Given the description of an element on the screen output the (x, y) to click on. 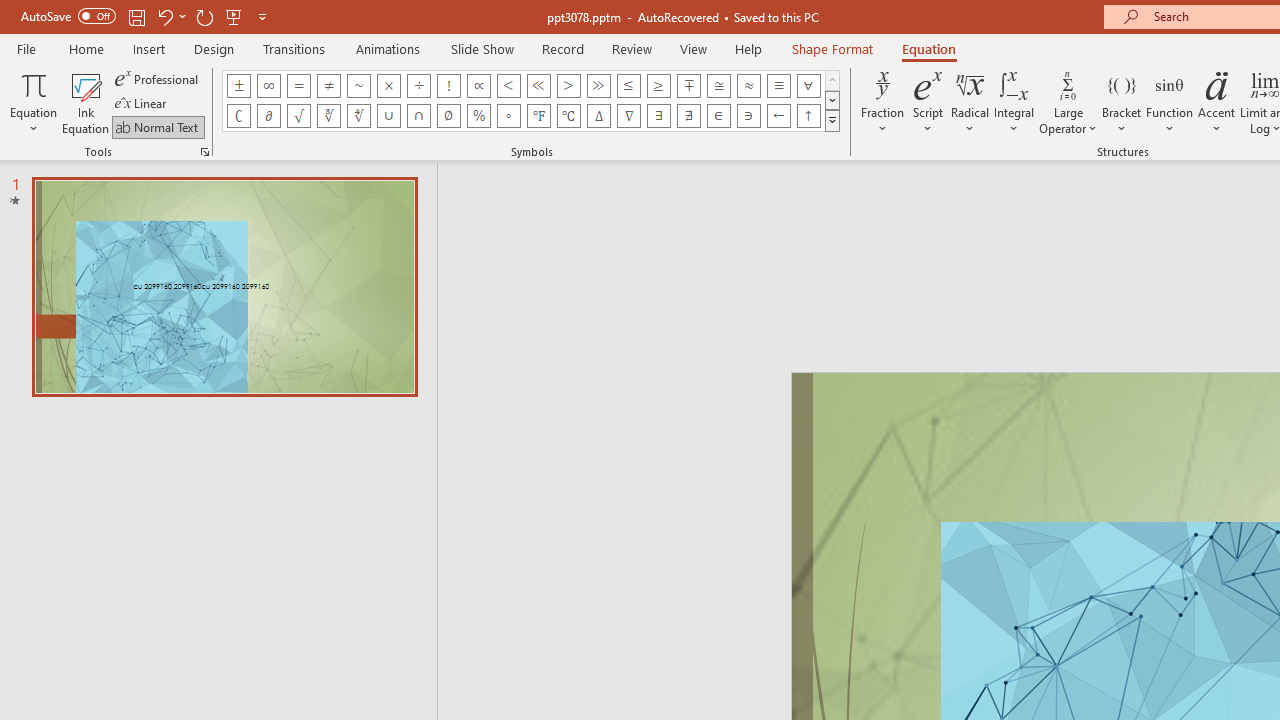
Equation Symbol Union (388, 115)
Fraction (882, 102)
Equation Symbol Left Arrow (778, 115)
Equation Symbol Partial Differential (268, 115)
Large Operator (1067, 102)
Equation Symbol Percentage (478, 115)
Equation Symbol Element Of (718, 115)
Equation Symbol Contains as Member (748, 115)
Equation Symbol Empty Set (448, 115)
Equation Symbol Increment (598, 115)
Equation Symbol Greater Than (568, 85)
Normal Text (158, 126)
